Given the description of an element on the screen output the (x, y) to click on. 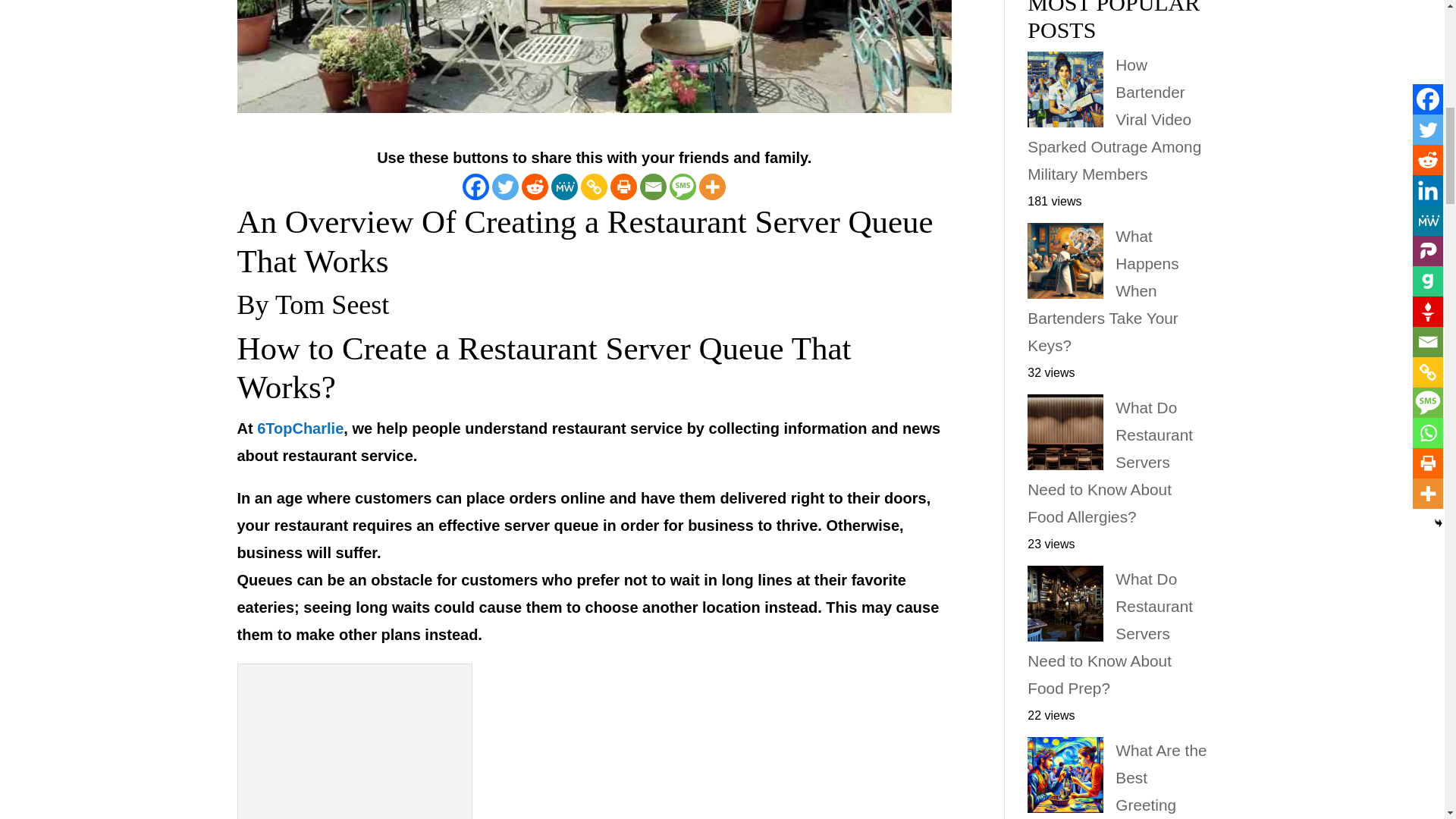
Facebook (476, 186)
Copy Link (593, 186)
MeWe (564, 186)
Print (623, 186)
Twitter (505, 186)
Email (653, 186)
Reddit (534, 186)
